Given the description of an element on the screen output the (x, y) to click on. 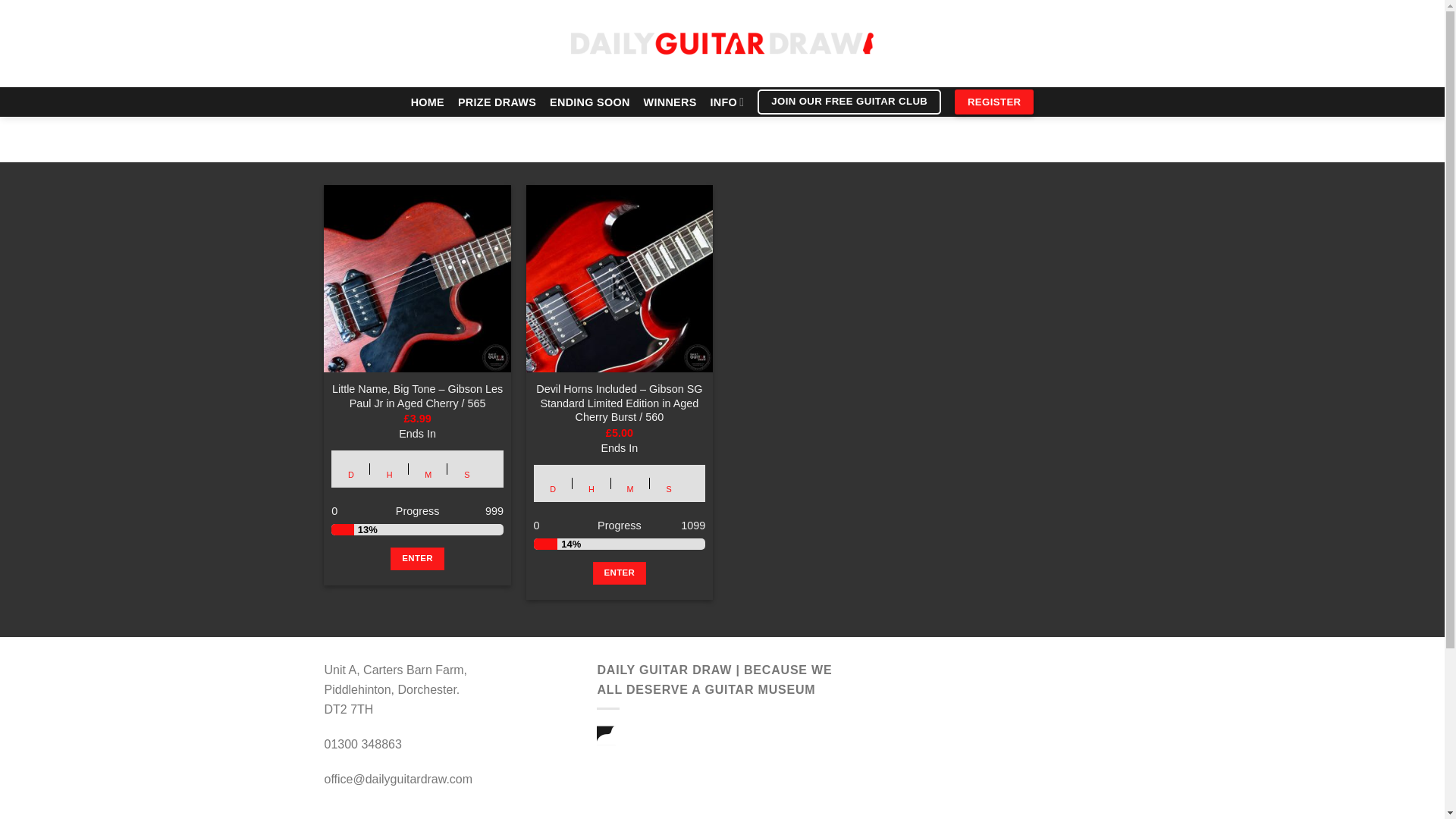
PRIZE DRAWS (496, 102)
INFO (727, 101)
REGISTER (994, 102)
YouTube video player (994, 739)
LOGIN (982, 43)
ENTER (417, 558)
HOME (427, 102)
Search (454, 43)
ENDING SOON (590, 102)
Login (982, 43)
